Given the description of an element on the screen output the (x, y) to click on. 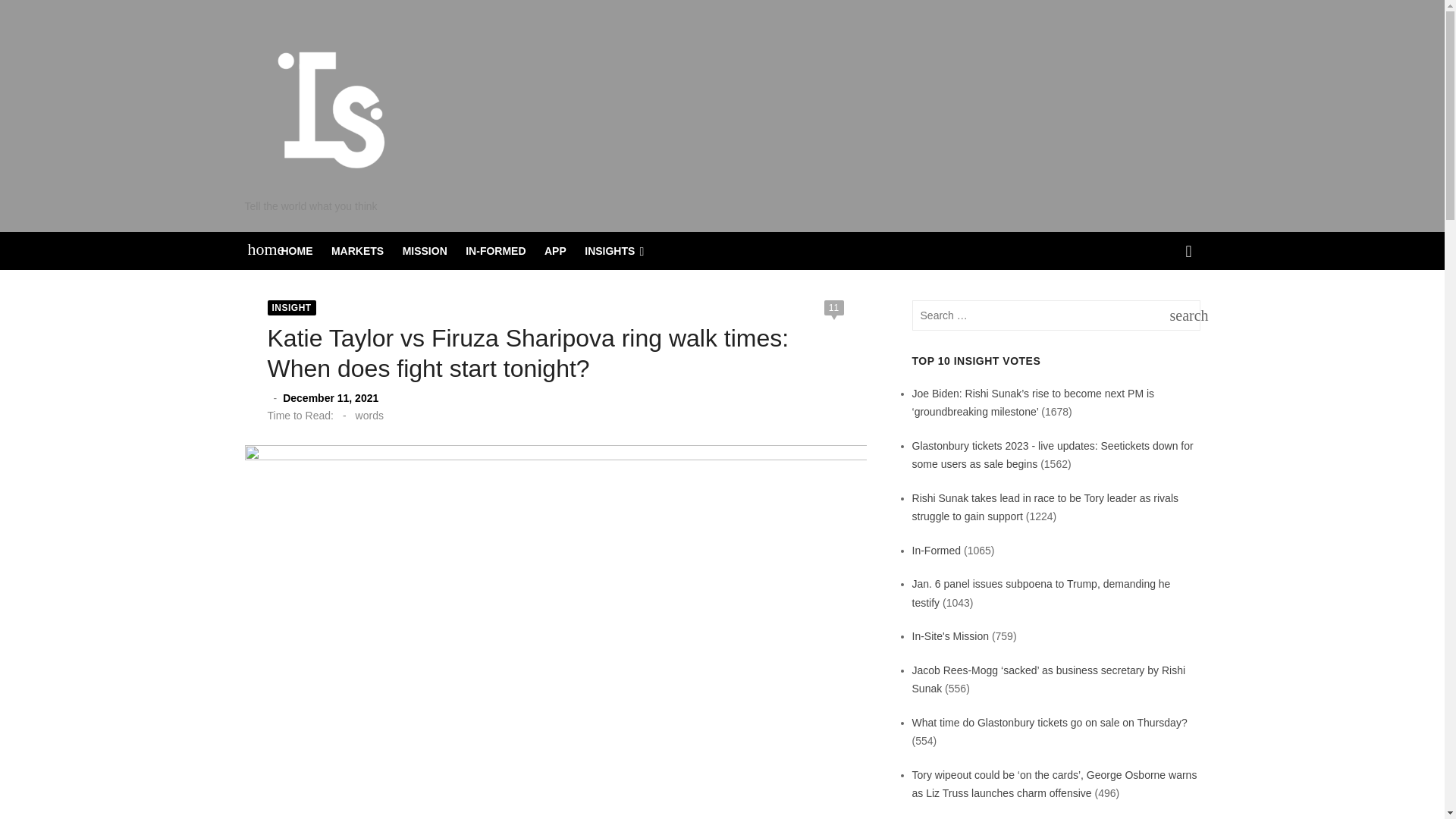
INSIGHT (290, 308)
HOME (296, 250)
MARKETS (358, 250)
home (258, 249)
INSIGHTS (613, 250)
MISSION (423, 250)
IN-FORMED (495, 250)
